Given the description of an element on the screen output the (x, y) to click on. 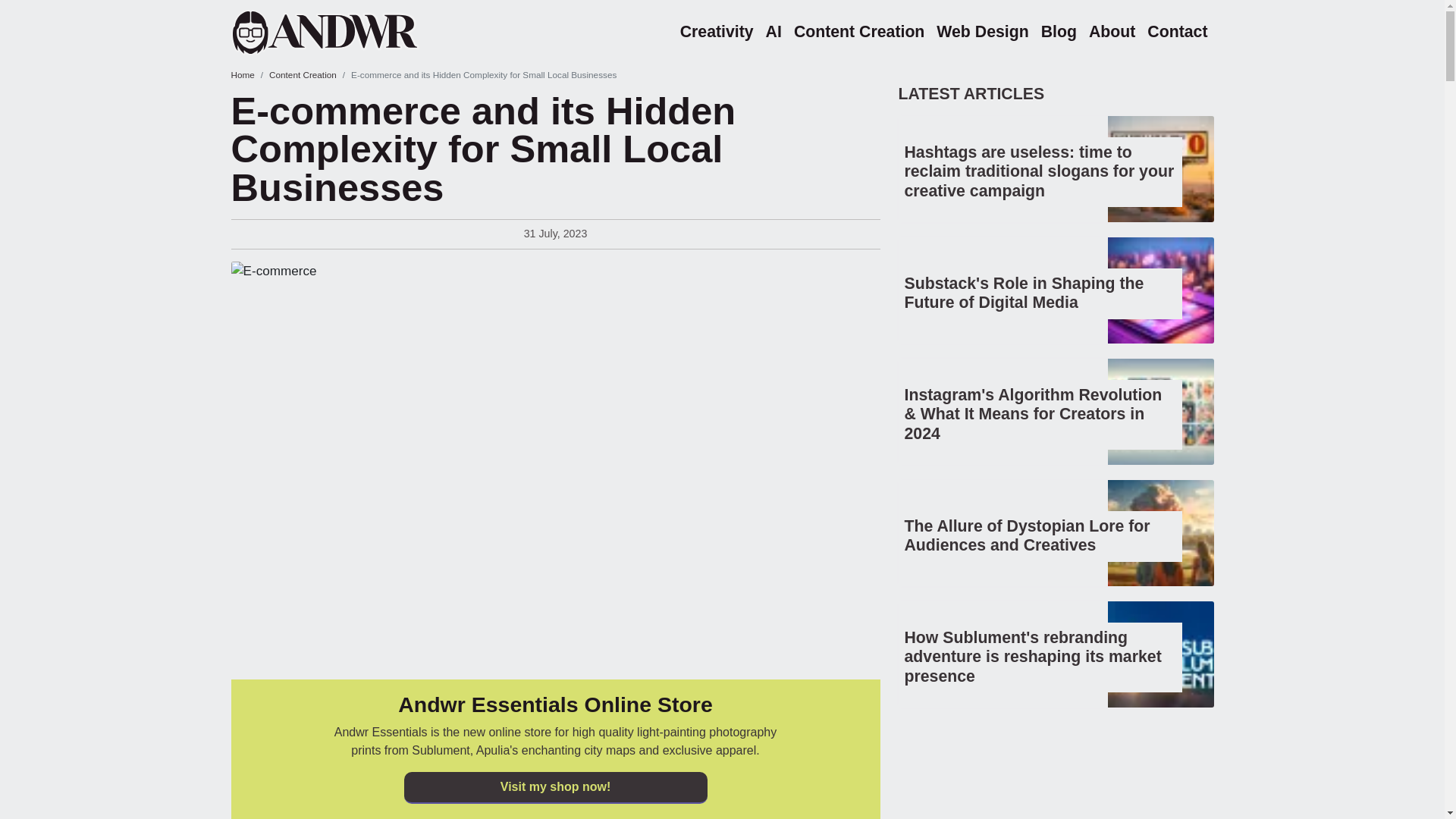
Content Creation (858, 32)
Substack's Role in Shaping the Future of Digital Media (1024, 293)
Blog (1059, 32)
Web Design (981, 32)
Home (344, 31)
Visit my shop now! (554, 787)
Contact (1176, 32)
Content Creation (302, 74)
About (1112, 32)
